Given the description of an element on the screen output the (x, y) to click on. 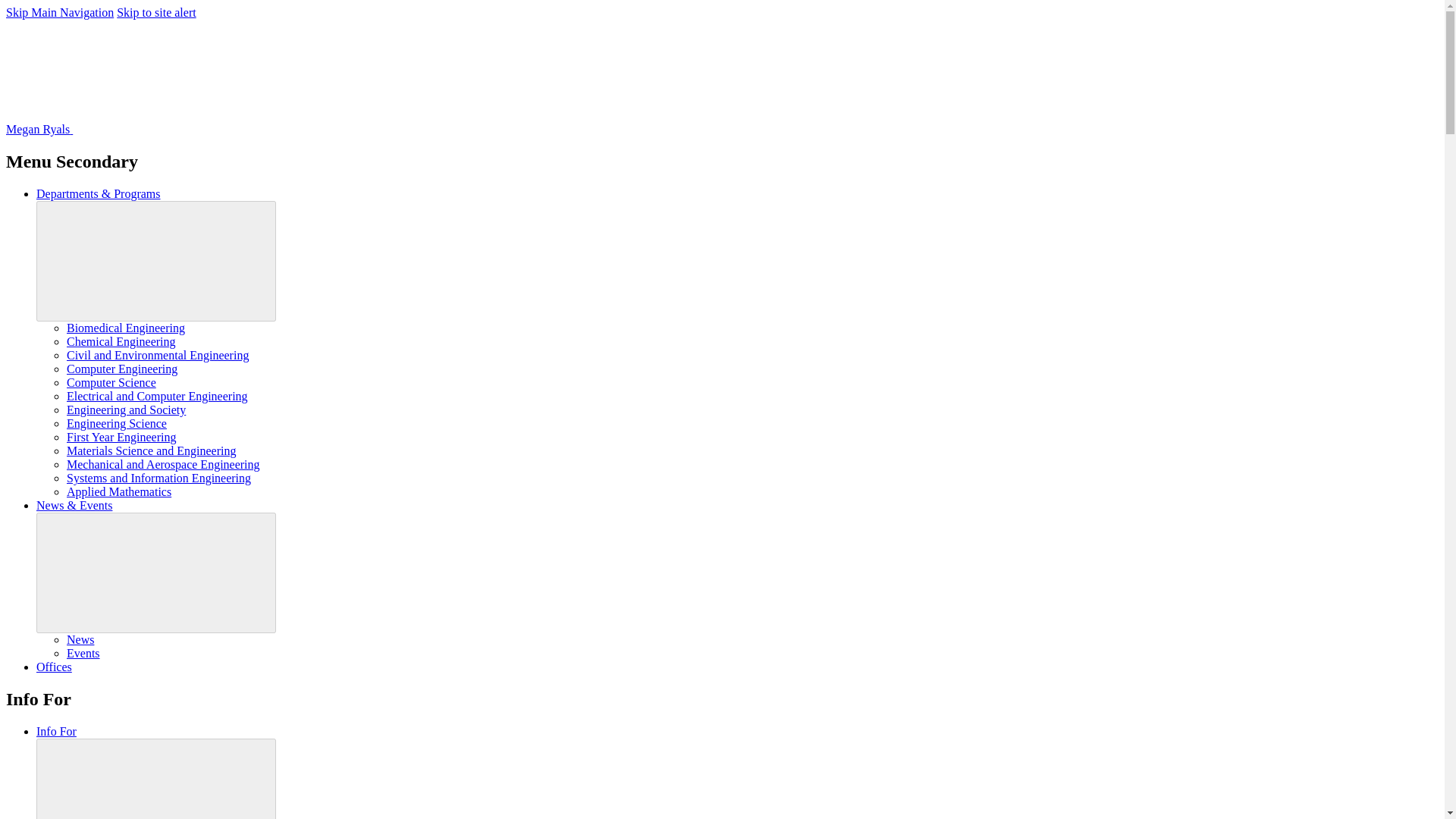
Skip to site alert (155, 11)
Skip Main Navigation (59, 11)
Megan Ryals (152, 128)
